Given the description of an element on the screen output the (x, y) to click on. 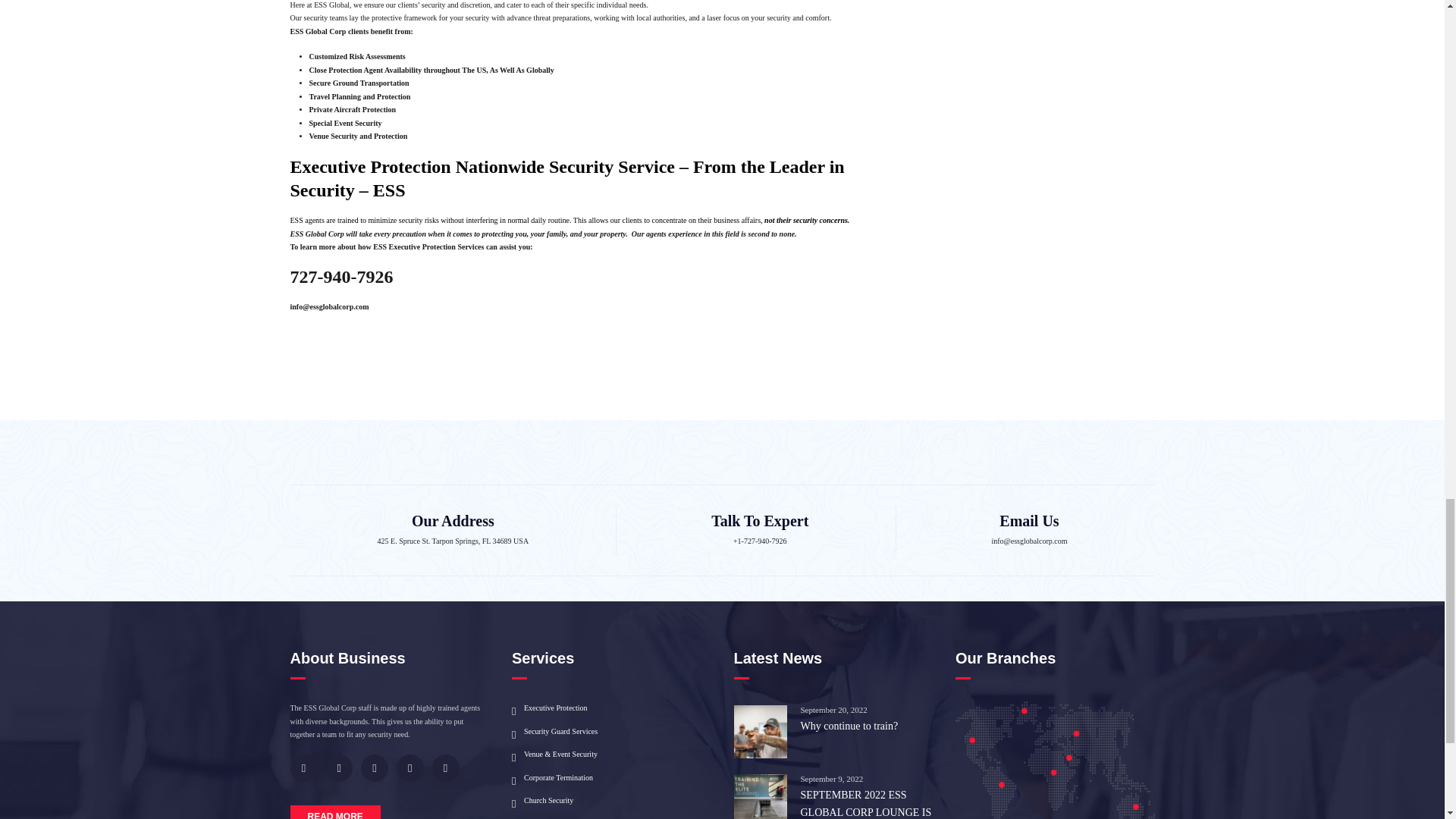
727-940-7926 (341, 276)
